Given the description of an element on the screen output the (x, y) to click on. 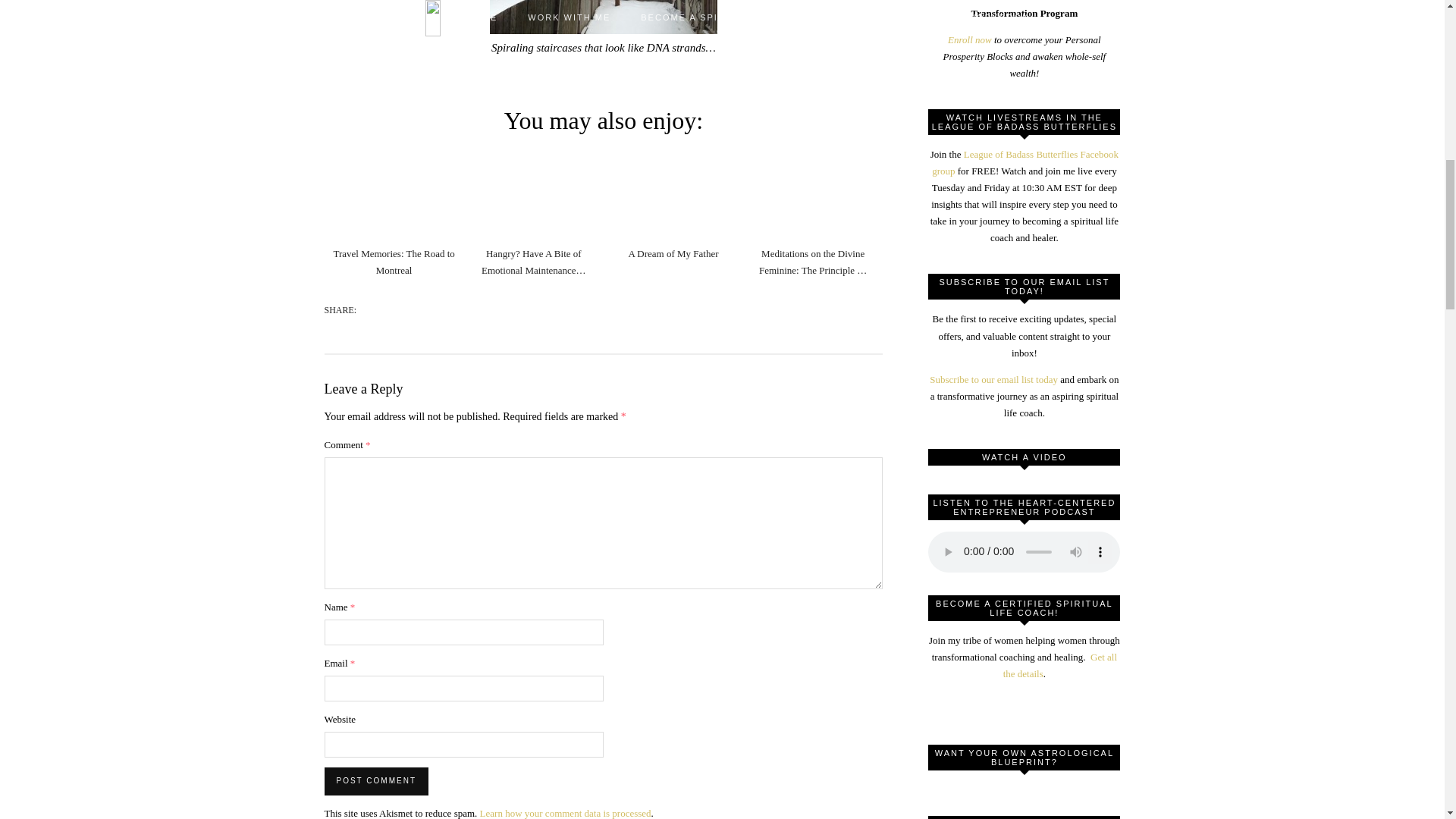
Travel Memories:  The Road to Montreal (393, 262)
A Dream of My Father (674, 193)
Travel Memories: The Road to Montreal (393, 262)
Travel Memories:  The Road to Montreal (393, 193)
Post Comment (376, 780)
A Dream of My Father (672, 253)
A Dream of My Father (672, 253)
